Given the description of an element on the screen output the (x, y) to click on. 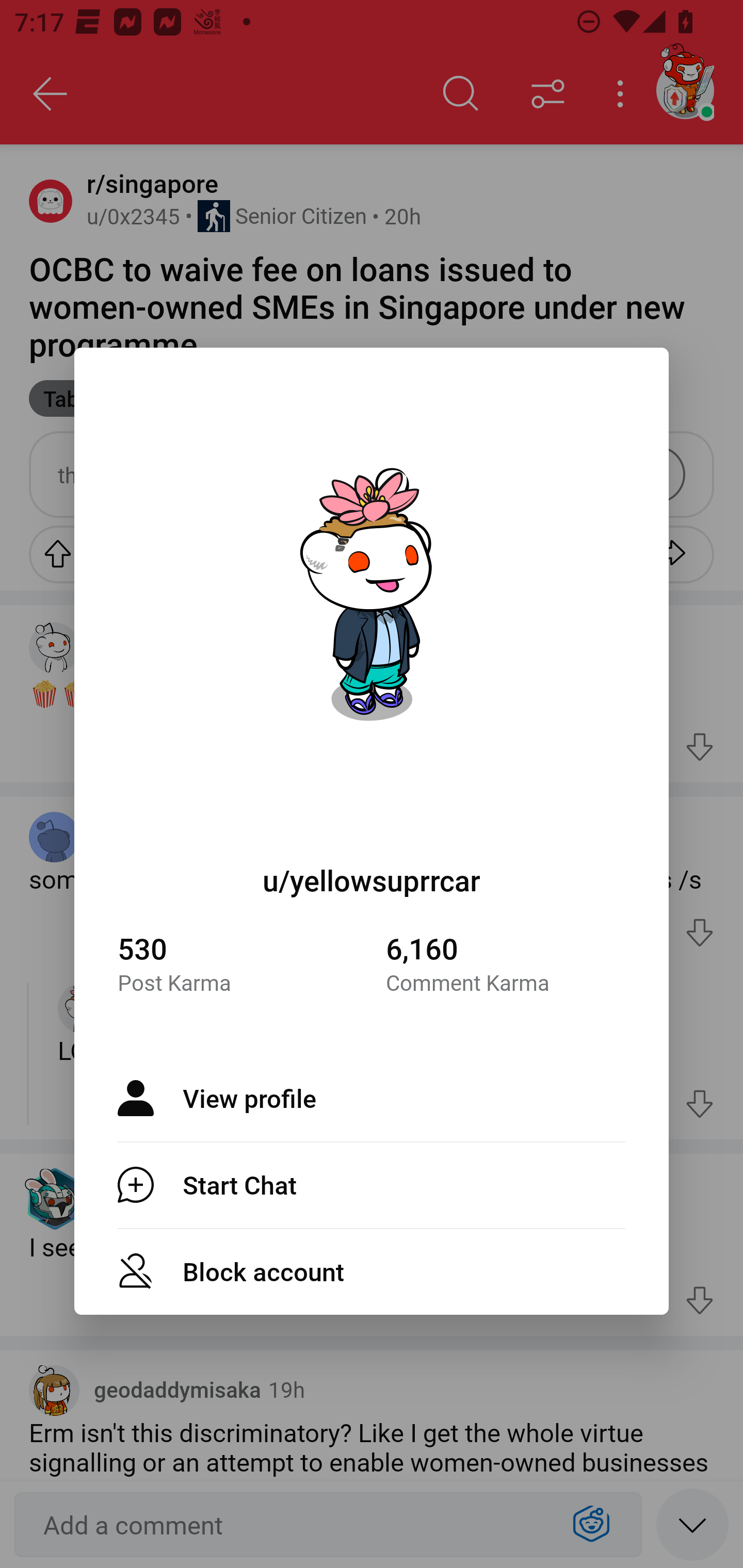
u/yellowsuprrcar (371, 880)
View profile (371, 1098)
Start Chat (371, 1184)
Block account (371, 1270)
